Given the description of an element on the screen output the (x, y) to click on. 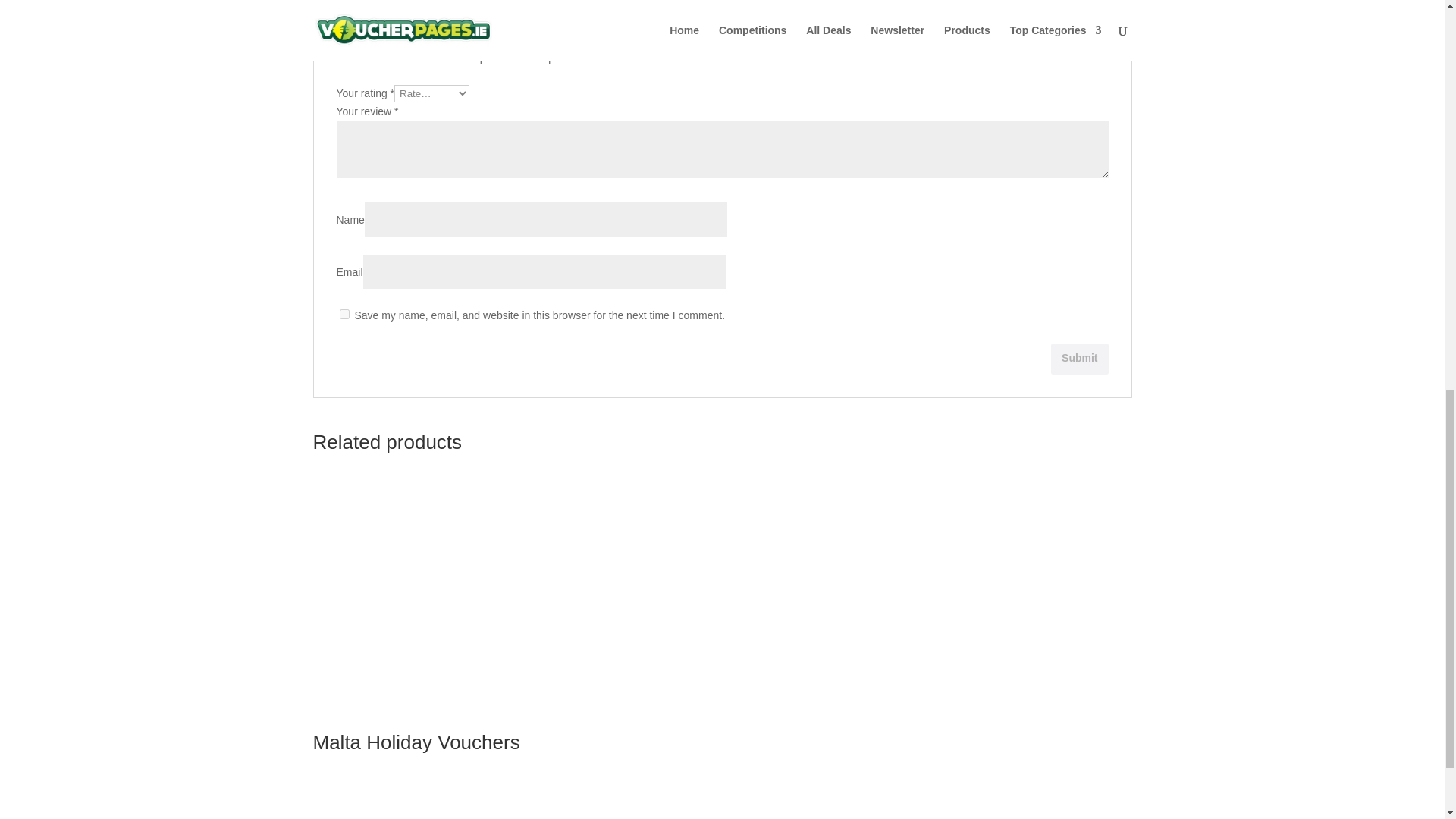
yes (344, 314)
Submit (1079, 358)
Submit (1079, 358)
